Given the description of an element on the screen output the (x, y) to click on. 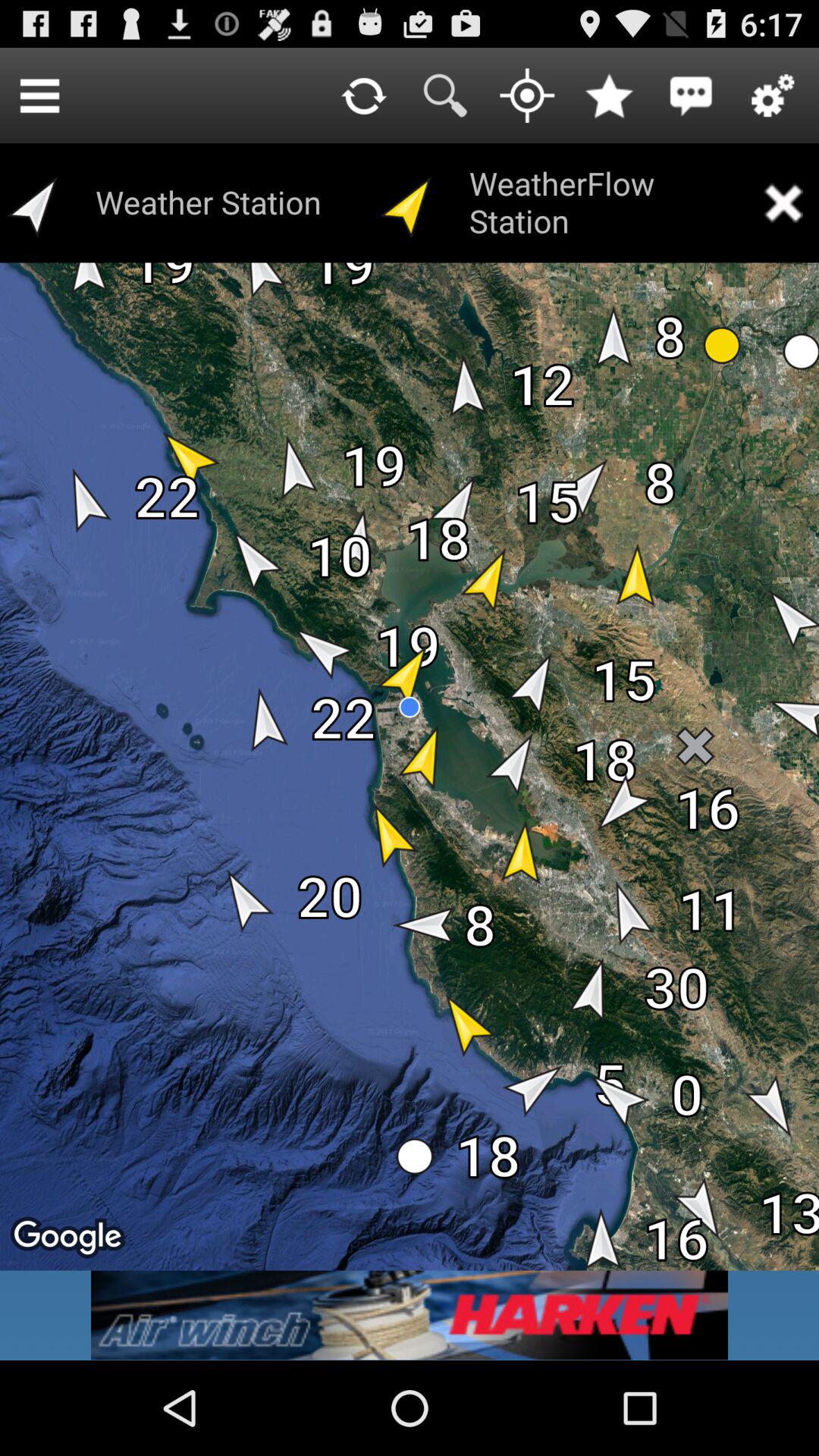
check message box (690, 95)
